Given the description of an element on the screen output the (x, y) to click on. 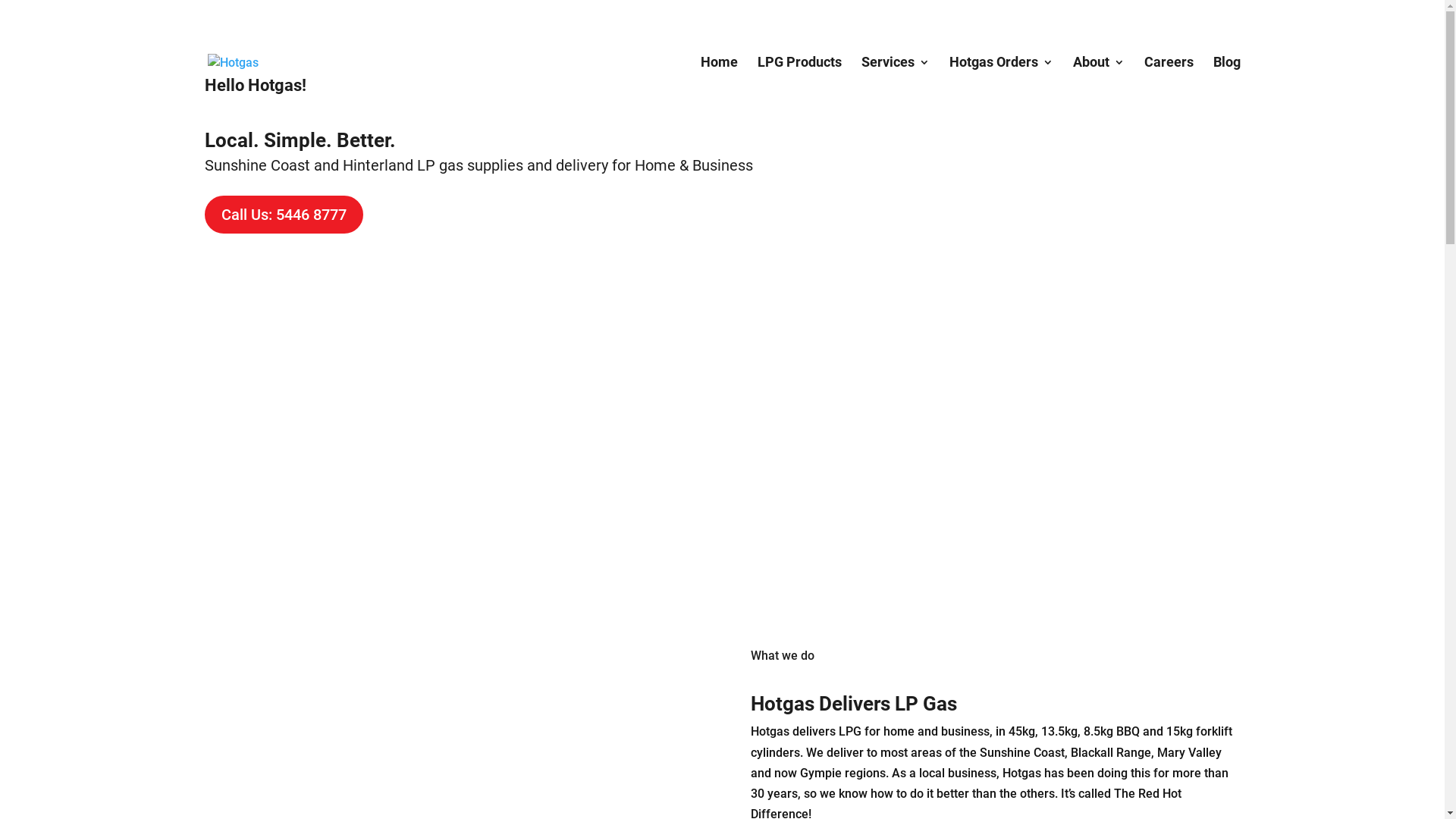
LPG Products Element type: text (798, 78)
Services Element type: text (895, 78)
Call Us: 5446 8777 Element type: text (283, 214)
Hotgas Orders Element type: text (1001, 78)
About Element type: text (1097, 78)
Hotgas Tanks Element type: hover (1003, 171)
business Element type: text (965, 731)
Careers Element type: text (1167, 78)
home Element type: text (898, 731)
07-5446-8777 Element type: text (260, 18)
Hotgas staff Element type: hover (1011, 392)
Blog Element type: text (1226, 78)
Hotgas Element type: text (769, 731)
sales@hotgas.com.au Element type: text (394, 18)
Home Element type: text (718, 78)
